Given the description of an element on the screen output the (x, y) to click on. 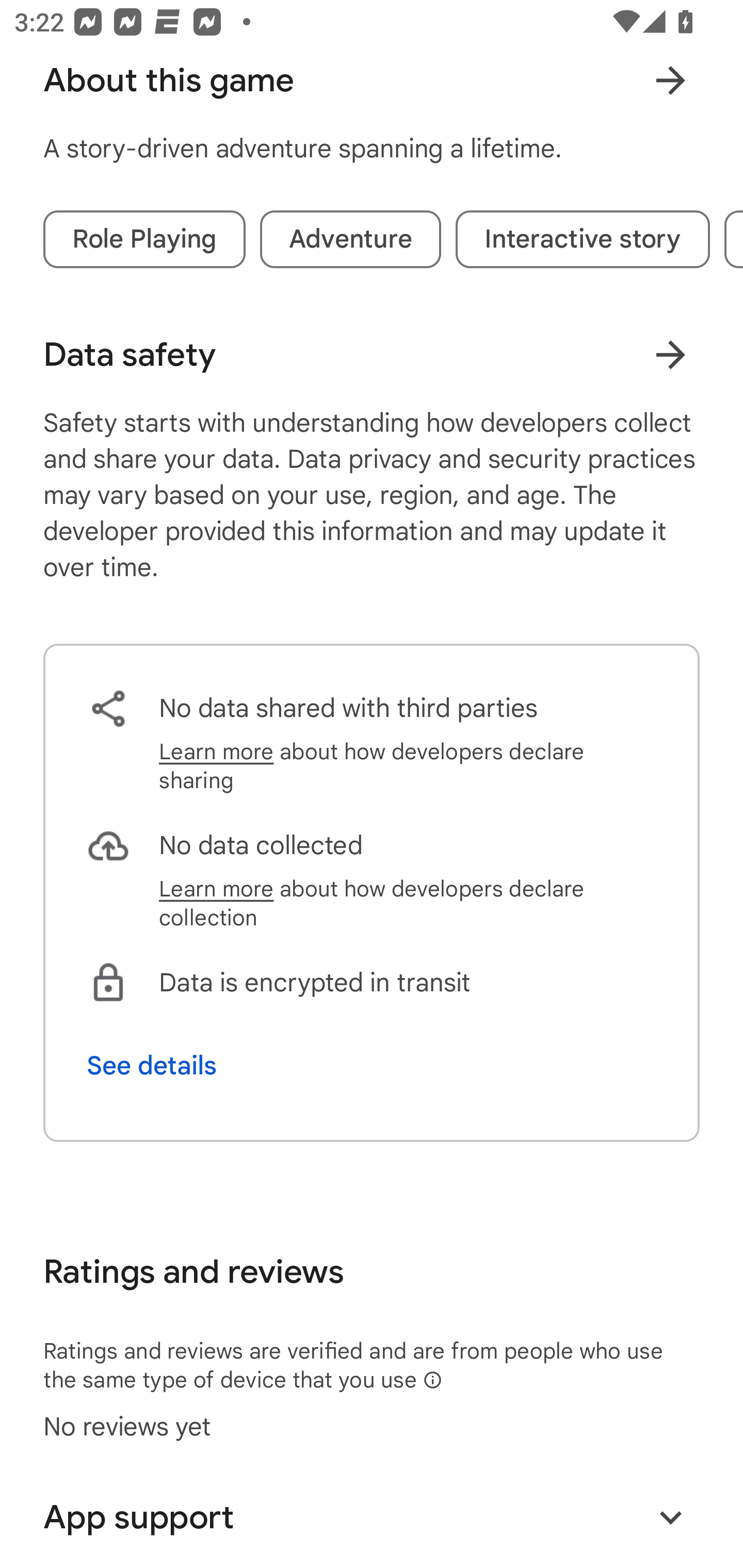
About this game Learn more About this game (371, 80)
Learn more About this game (670, 80)
Role Playing tag (144, 239)
Adventure tag (350, 239)
Interactive story tag (582, 239)
Data safety Learn more about data safety (371, 355)
Learn more about data safety (670, 355)
Learn more about how developers declare sharing (407, 765)
Learn more about how developers declare collection (407, 903)
See details (151, 1066)
App support Expand (371, 1517)
Expand (670, 1516)
